Given the description of an element on the screen output the (x, y) to click on. 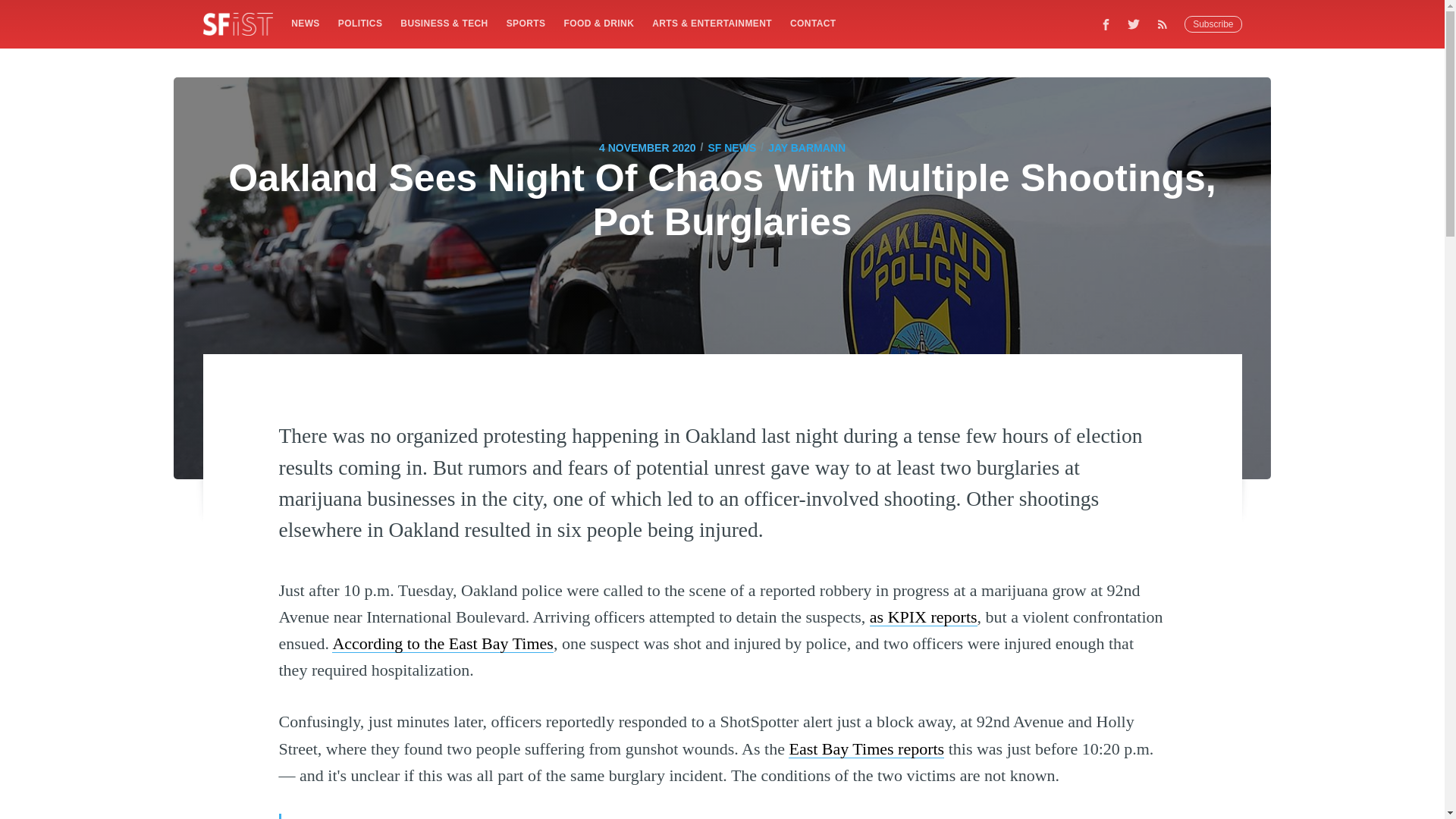
Subscribe (1213, 23)
SPORTS (525, 23)
Facebook (1106, 23)
RSS (1166, 23)
JAY BARMANN (806, 147)
as KPIX reports (922, 616)
Twitter (1133, 23)
East Bay Times reports (866, 748)
CONTACT (812, 23)
NEWS (305, 23)
SF NEWS (731, 147)
POLITICS (360, 23)
According to the East Bay Times (442, 642)
